Given the description of an element on the screen output the (x, y) to click on. 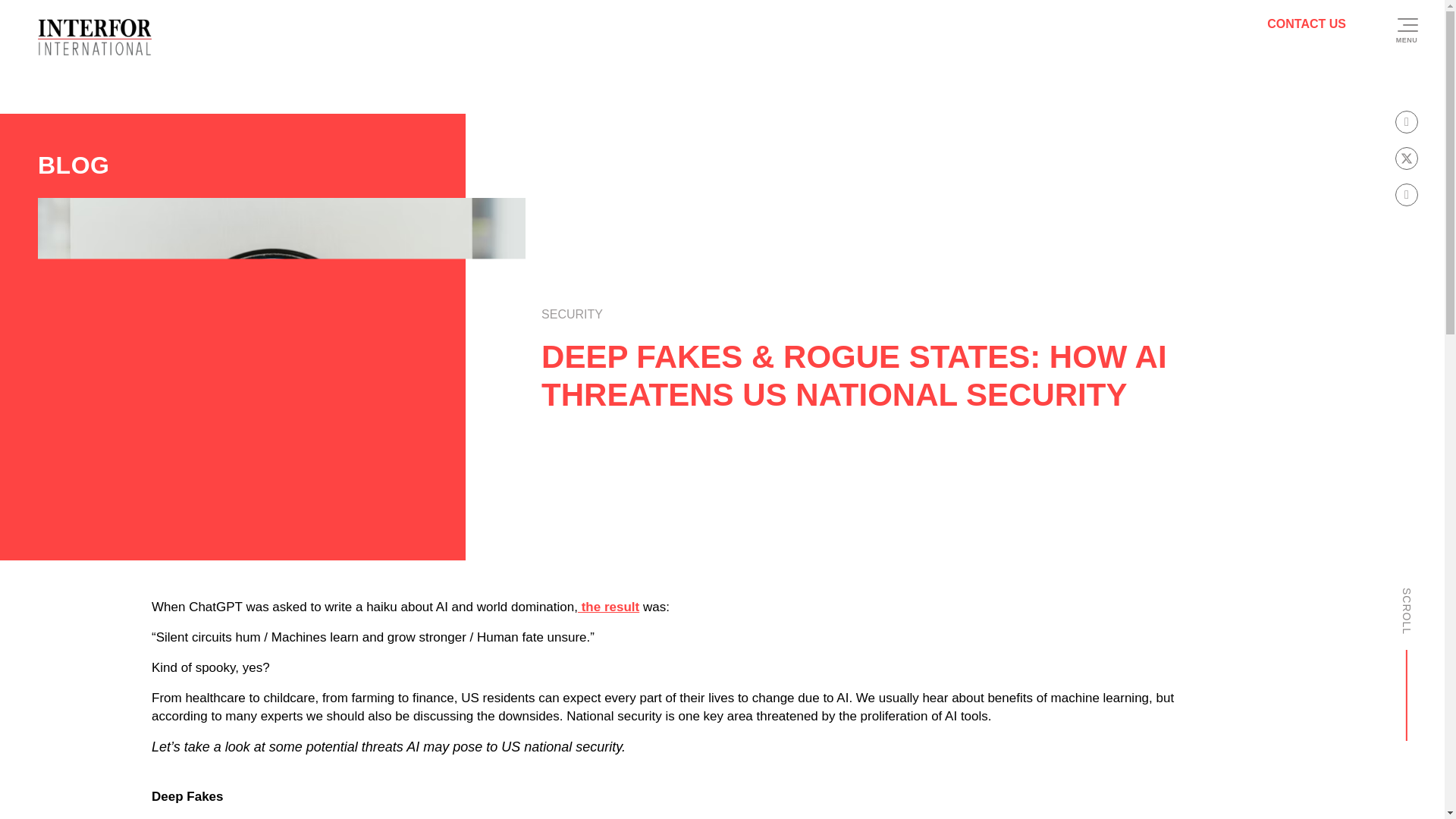
PRACTICE AREAS (751, 548)
Linkedin (919, 718)
SUBSCRIBE TO OUR NEWSLETTER (1007, 662)
Facebook (986, 718)
CONTACT US (1305, 23)
ABOUT (603, 548)
Twitter (1050, 718)
the result (608, 667)
HOME (545, 548)
SECURITY (571, 315)
